Given the description of an element on the screen output the (x, y) to click on. 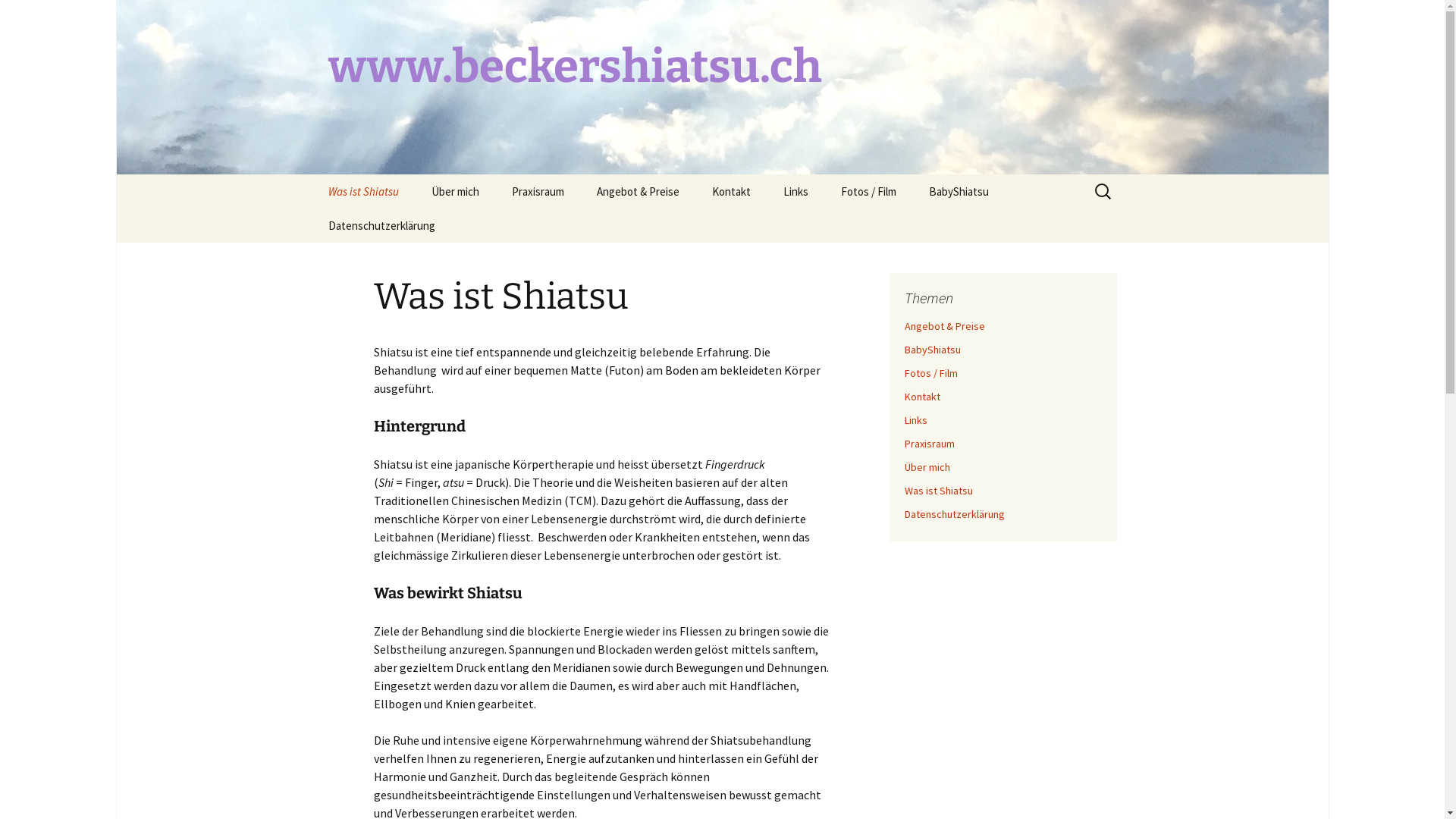
Angebot & Preise Element type: text (943, 325)
Links Element type: text (914, 419)
BabyShiatsu Element type: text (958, 191)
Was ist Shiatsu Element type: text (362, 191)
Fotos / Film Element type: text (867, 191)
Kontakt Element type: text (730, 191)
Links Element type: text (794, 191)
Was ist Shiatsu Element type: text (937, 490)
Angebot & Preise Element type: text (636, 191)
www.beckershiatsu.ch Element type: text (721, 87)
Suche Element type: text (18, 16)
Fotos / Film Element type: text (930, 372)
Suche Element type: text (32, 15)
Praxisraum Element type: text (928, 443)
Praxisraum Element type: text (536, 191)
Zum Inhalt springen Element type: text (312, 173)
Kontakt Element type: text (921, 396)
BabyShiatsu Element type: text (931, 349)
